Given the description of an element on the screen output the (x, y) to click on. 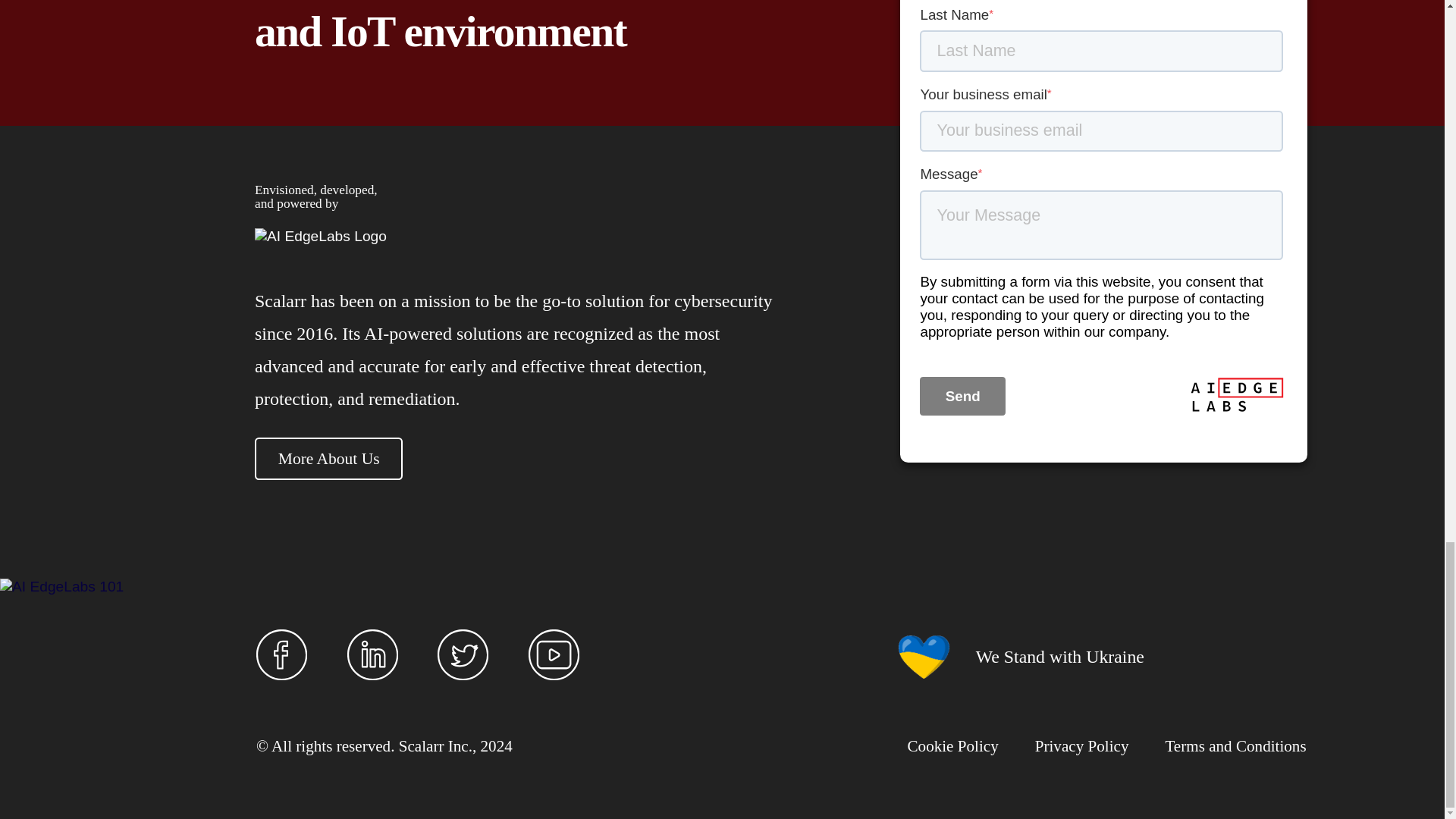
More About Us (328, 458)
Send (962, 395)
